Given the description of an element on the screen output the (x, y) to click on. 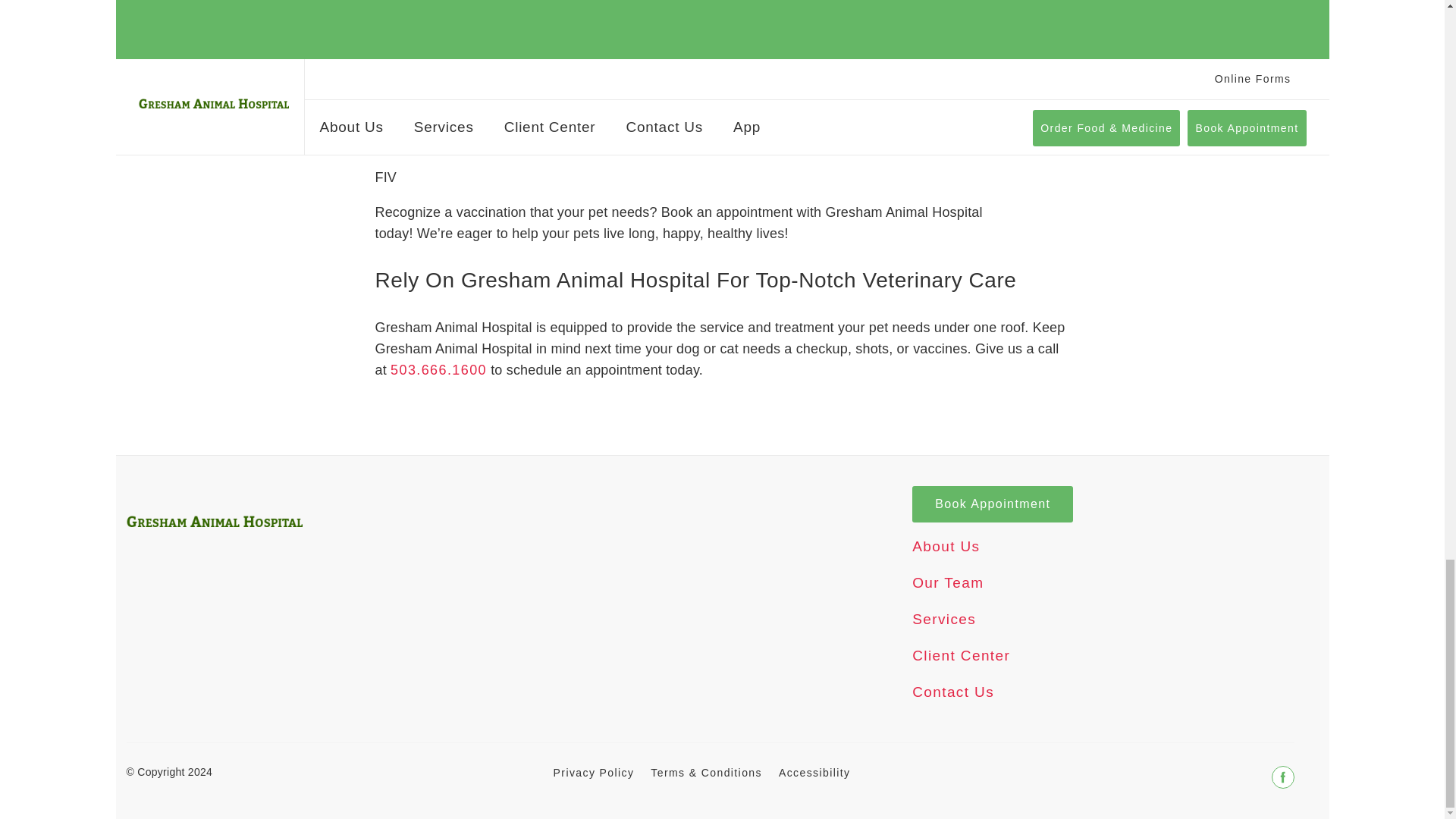
Our Team (948, 612)
503.666.1600 (438, 400)
Contact Us (953, 722)
About Us (945, 576)
Book Appointment (992, 534)
Client Center (961, 685)
Privacy Policy (593, 802)
Services (943, 649)
